Given the description of an element on the screen output the (x, y) to click on. 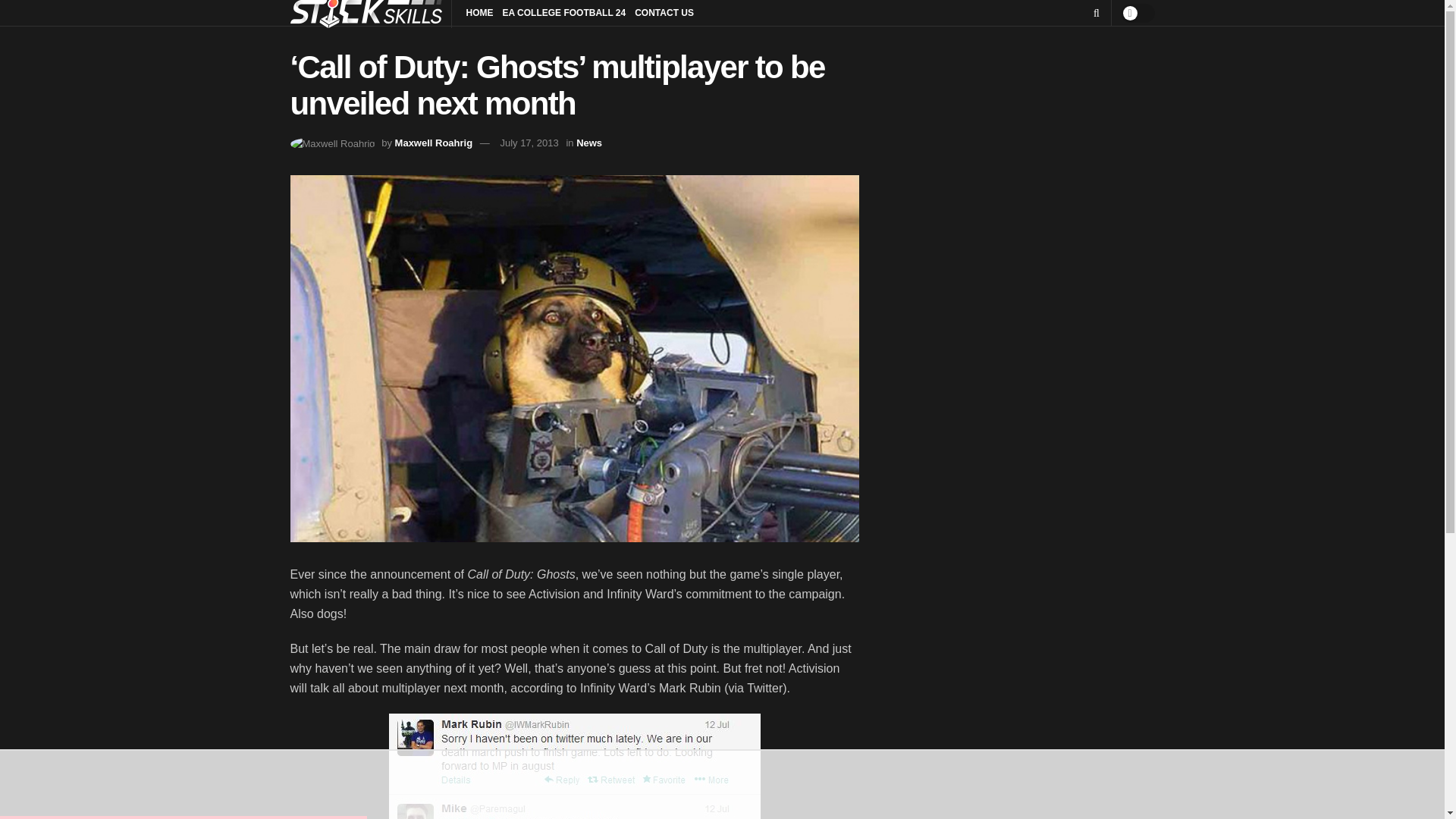
EA COLLEGE FOOTBALL 24 (564, 12)
CONTACT US (664, 12)
Maxwell Roahrig (433, 142)
HOME (479, 12)
July 17, 2013 (528, 142)
News (589, 142)
